Given the description of an element on the screen output the (x, y) to click on. 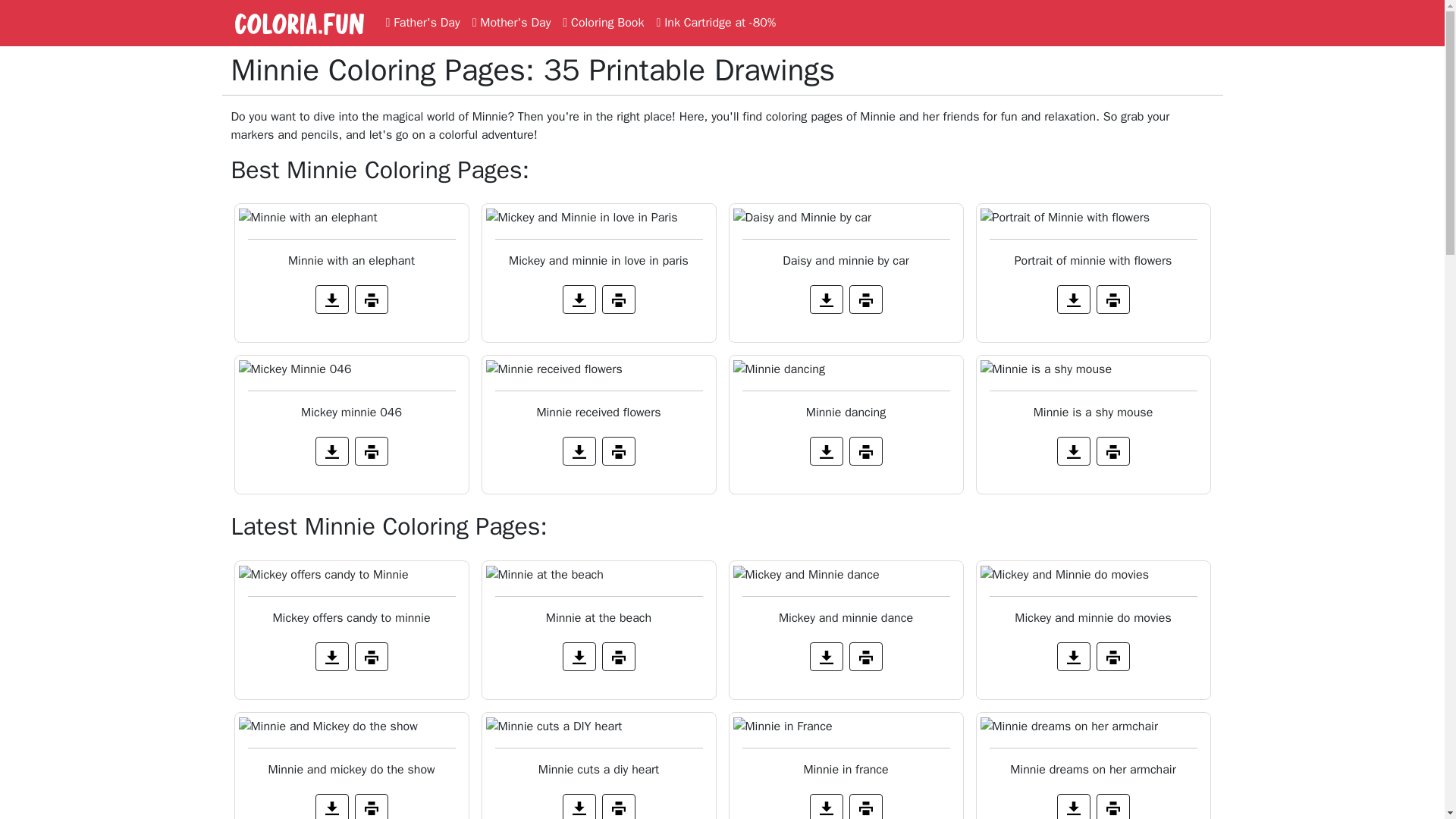
Print the coloring page (865, 806)
Download the coloring page (826, 299)
Download the coloring page (578, 451)
Download the coloring page (1073, 806)
Print the coloring page (865, 299)
Download the coloring page (826, 806)
Print the coloring page (371, 806)
Download the coloring page (826, 656)
Download the coloring page (332, 299)
Print the coloring page (1112, 451)
